Given the description of an element on the screen output the (x, y) to click on. 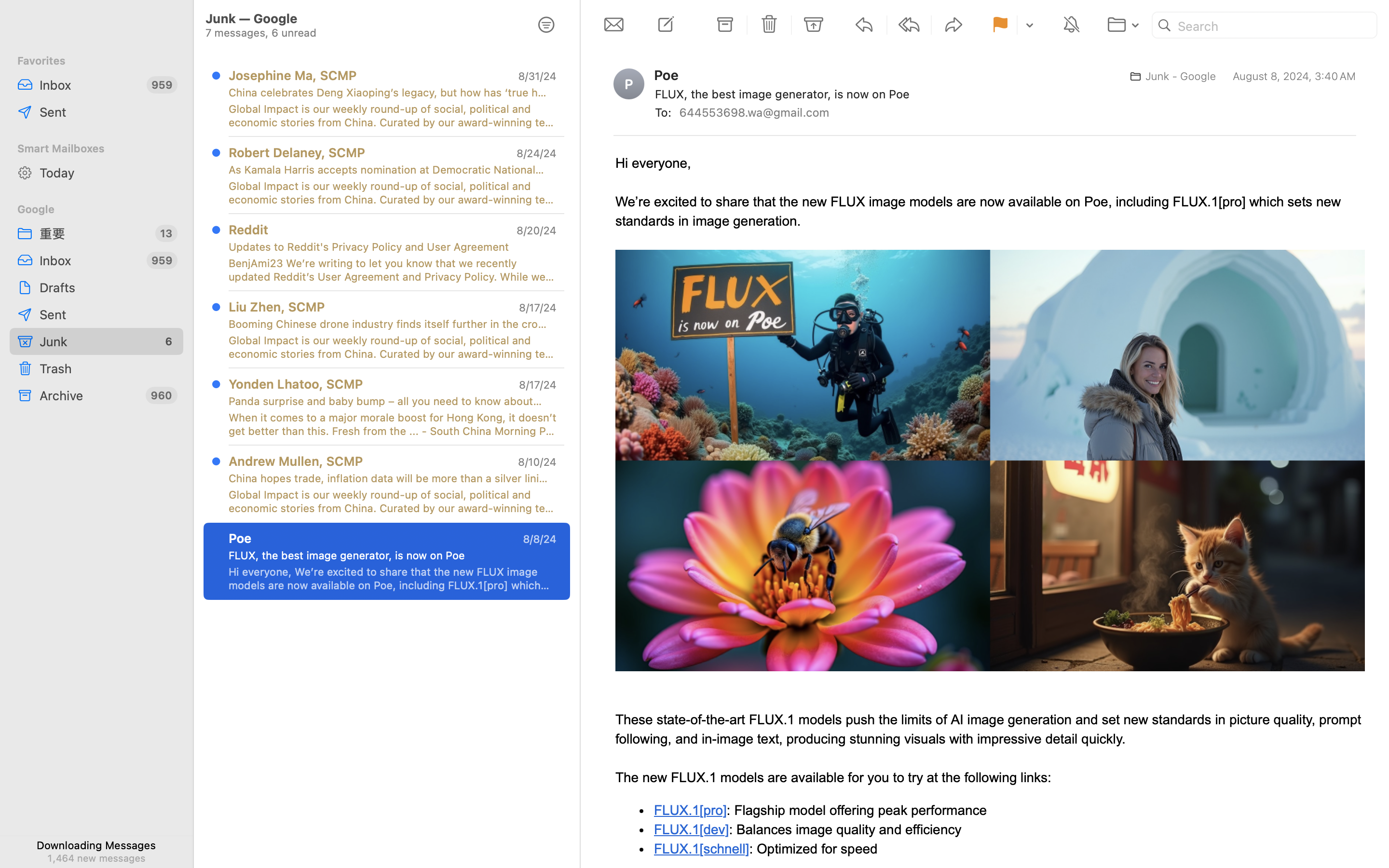
FLUX, the best image generator, is now on Poe Element type: AXStaticText (388, 555)
644553698.wa@gmail.com Element type: AXStaticText (758, 112)
August 8, 2024, 3:40 AM Element type: AXStaticText (1294, 75)
BenjAmi23 We’re writing to let you know that we recently updated Reddit’s User Agreement and Privacy Policy. While we encourage you to review the updated documents in full, here are some of the highlights: We reorganized sections of our Privacy Policy for improved clarity. We included language in the Privacy Policy to reflect our participation in the EU-US Data Privacy Framework. We clarified what content you submit is non-public. We updated the Privacy Policy to better reflect our current products, like Reddit Pro. For users in the EEA, United Kingdom, and Switzerland, we updated the User Agreement to reflect that the Reddit products and services are provided by Reddit Netherlands B.V. Updates to our Privacy Policy take effect immediately. The updated User Agreement takes effect September 16, 2024 and will apply to you if you use Reddit after that date. For more information about how we handle information that is made public on Reddit, please see our Public Content Policy. If you have Element type: AXStaticText (392, 269)
: Optimized for speed Element type: AXStaticText (812, 848)
